Given the description of an element on the screen output the (x, y) to click on. 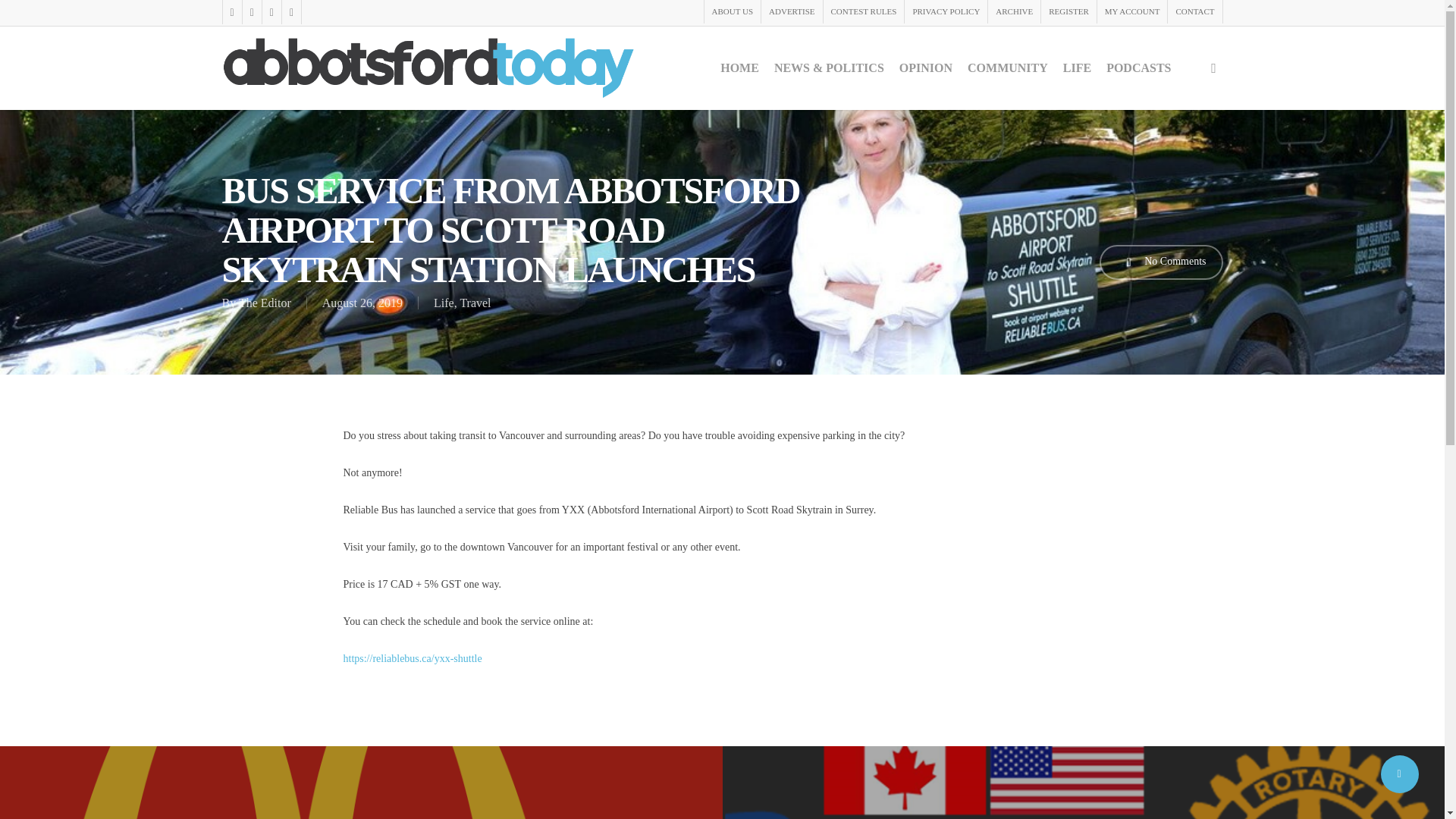
The Editor (264, 302)
CONTEST RULES (863, 11)
Travel (475, 302)
Posts by The Editor (264, 302)
LIFE (1076, 68)
PODCASTS (1138, 68)
ABOUT US (732, 11)
search (1213, 68)
ARCHIVE (1014, 11)
No Comments (1161, 262)
ADVERTISE (791, 11)
PRIVACY POLICY (945, 11)
Life (443, 302)
HOME (739, 68)
COMMUNITY (1008, 68)
